Given the description of an element on the screen output the (x, y) to click on. 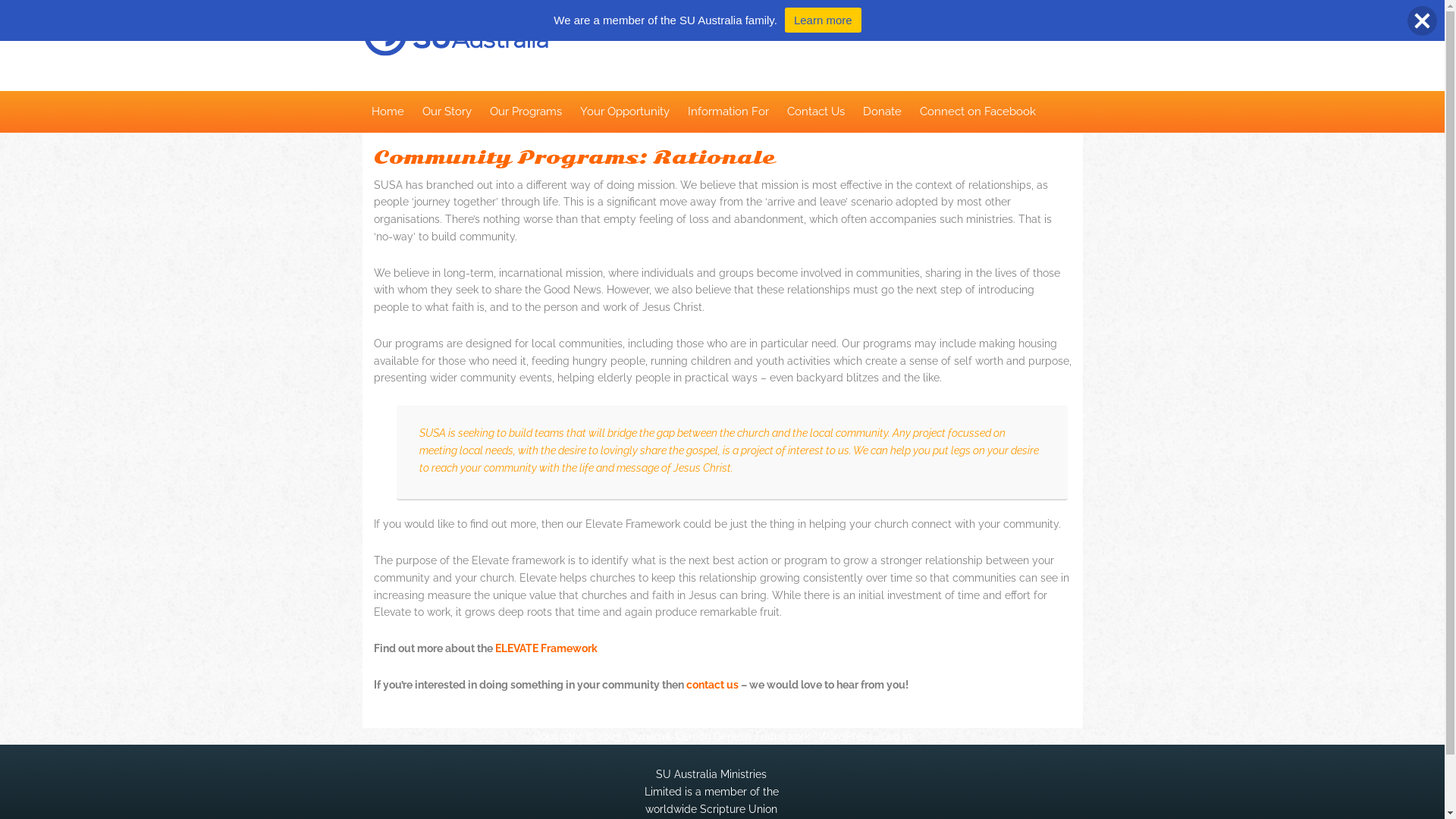
ELEVATE Framework Element type: text (545, 648)
Donate Element type: text (881, 111)
Log in Element type: text (896, 735)
Contact Us Element type: text (815, 111)
Dynamik-Gen Element type: text (661, 735)
Your Opportunity Element type: text (623, 111)
Our Programs Element type: text (525, 111)
Our Story Element type: text (446, 111)
Genesis Framework Element type: text (761, 735)
Information For Element type: text (727, 111)
Connect on Facebook Element type: text (977, 111)
contact us Element type: text (711, 684)
WordPress Element type: text (845, 735)
SU Australia in SA Element type: text (532, 51)
Learn more Element type: text (822, 19)
Home Element type: text (387, 111)
